Given the description of an element on the screen output the (x, y) to click on. 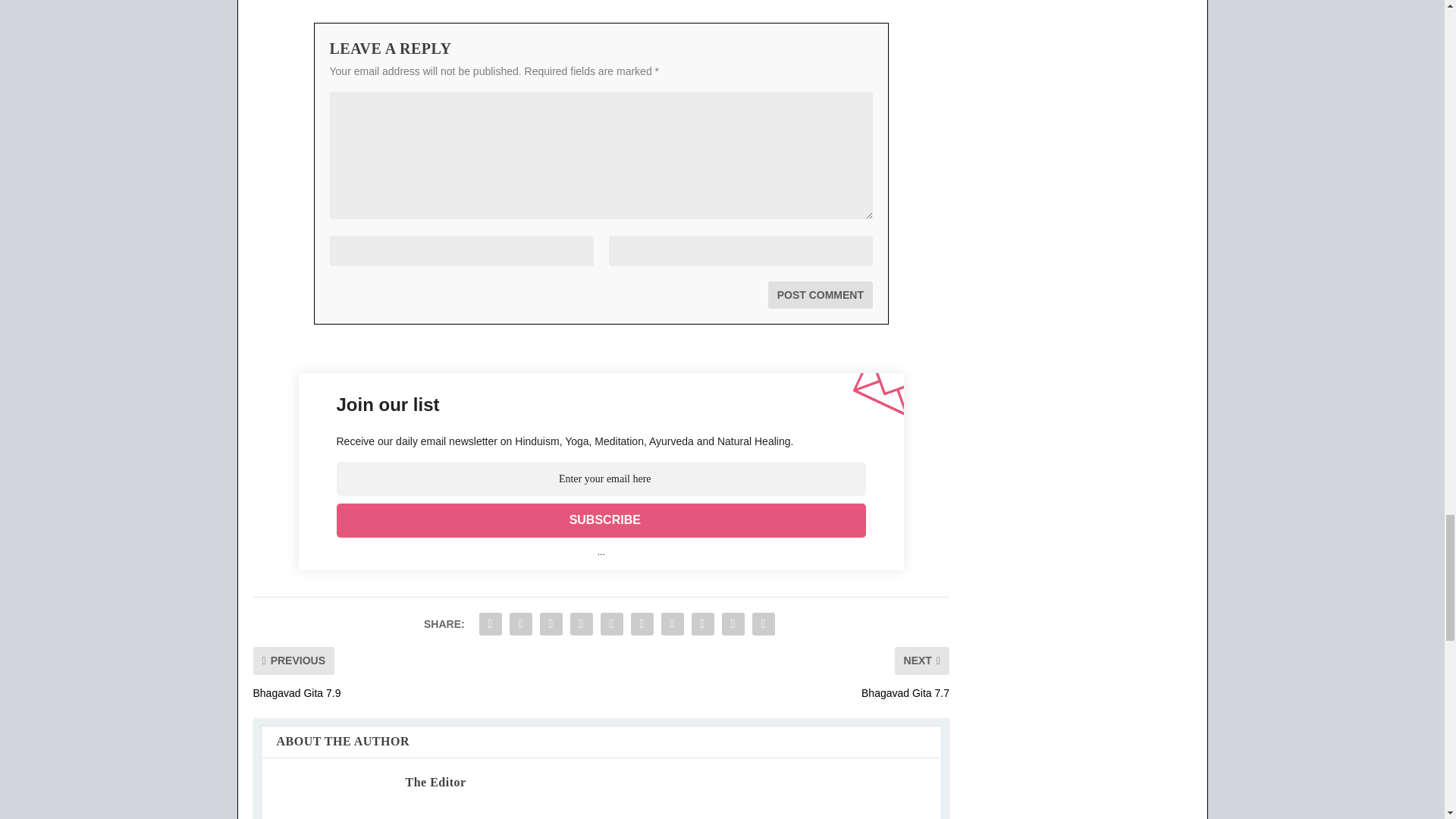
Post Comment (820, 294)
Share "Bhagavad Gita 7.8" via Stumbleupon (702, 624)
Share "Bhagavad Gita 7.8" via Pinterest (611, 624)
Share "Bhagavad Gita 7.8" via Tumblr (581, 624)
Share "Bhagavad Gita 7.8" via Facebook (490, 624)
Subscribe (601, 520)
Share "Bhagavad Gita 7.8" via LinkedIn (642, 624)
Share "Bhagavad Gita 7.8" via Print (763, 624)
Share "Bhagavad Gita 7.8" via Buffer (672, 624)
View all posts by The Editor (434, 781)
